Given the description of an element on the screen output the (x, y) to click on. 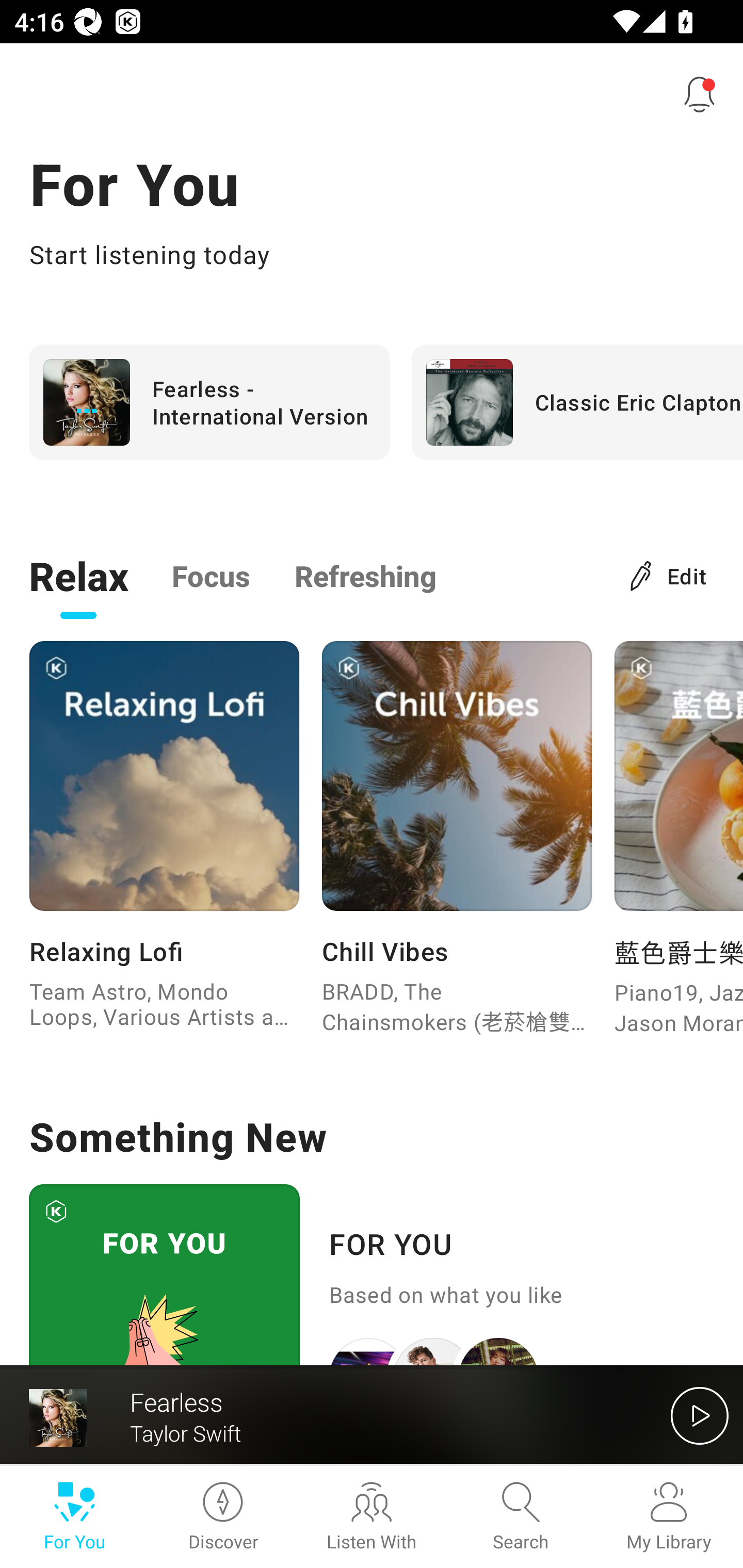
Notification (699, 93)
view_image Fearless - International Version (209, 401)
view_image Classic Eric Clapton (577, 401)
Focus (211, 575)
Refreshing (365, 575)
Edit (668, 575)
開始播放 (699, 1415)
For You (74, 1517)
Discover (222, 1517)
Listen With (371, 1517)
Search (519, 1517)
My Library (668, 1517)
